Given the description of an element on the screen output the (x, y) to click on. 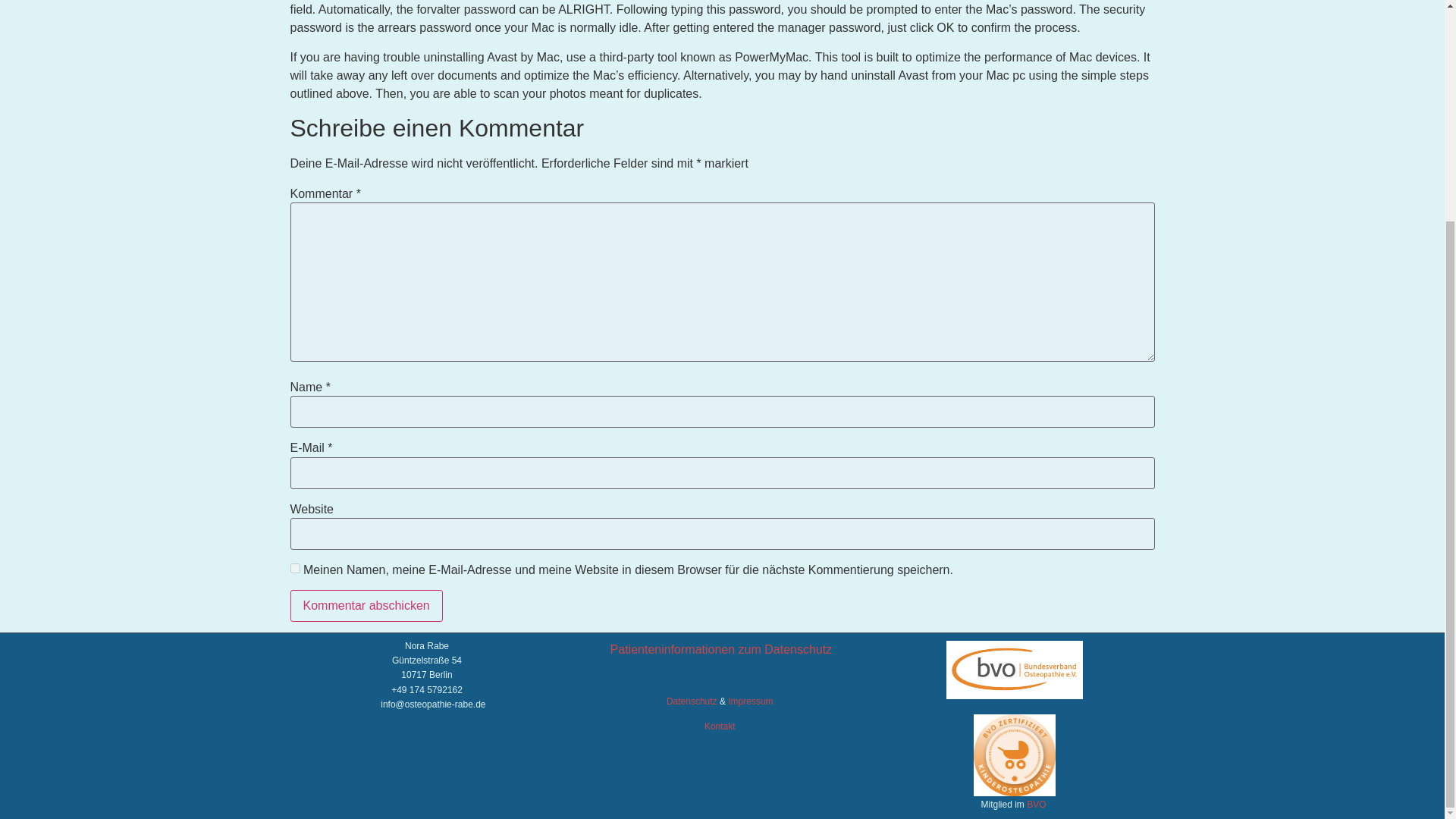
Datenschutz (691, 701)
Impressum (750, 701)
Patienteninformationen zum Datenschutz (721, 649)
Kommentar abschicken (365, 605)
Kommentar abschicken (365, 605)
BVO  (1037, 804)
yes (294, 568)
Kontakt (719, 726)
